Given the description of an element on the screen output the (x, y) to click on. 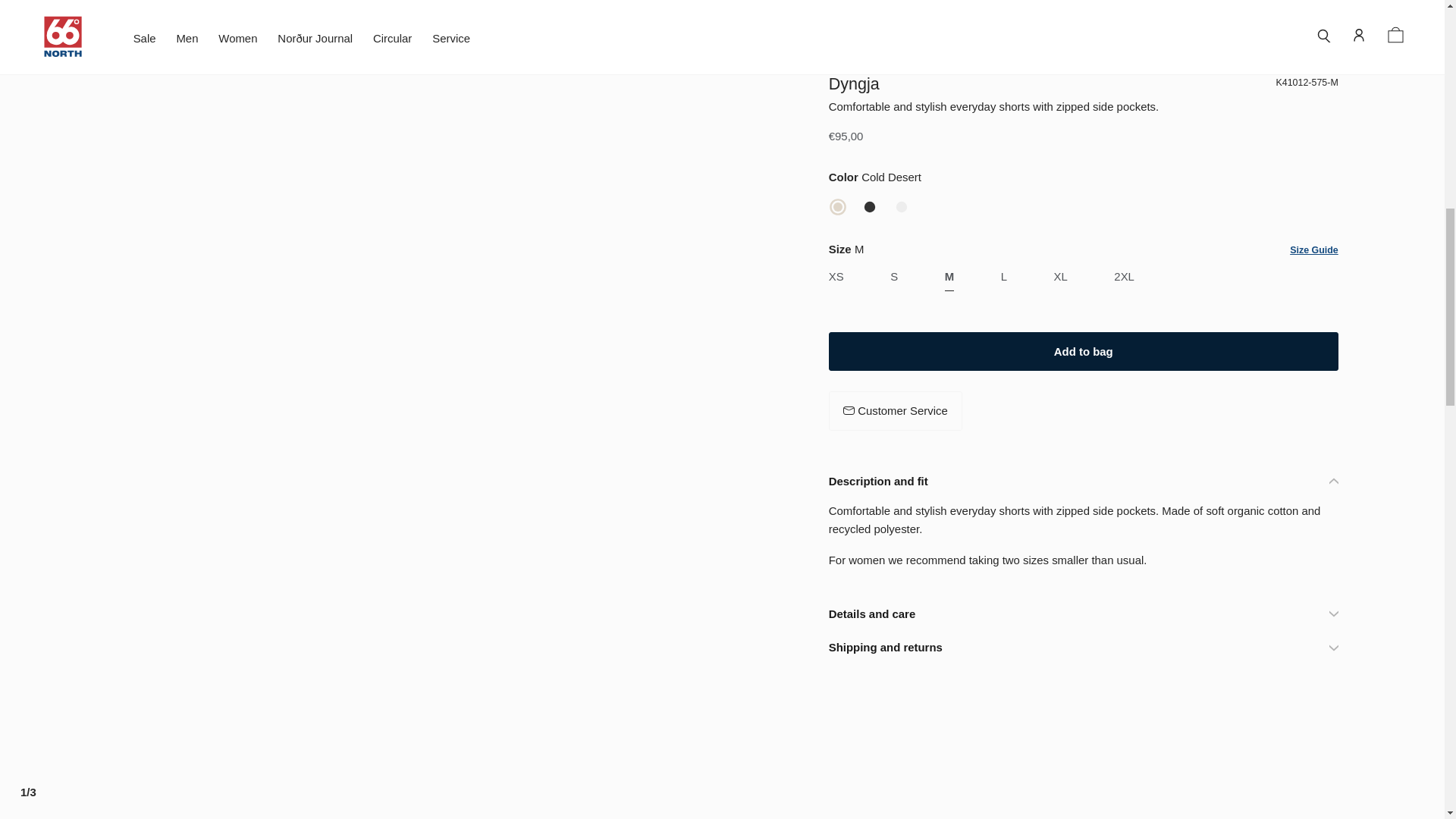
Shipping and returns (1083, 7)
